Given the description of an element on the screen output the (x, y) to click on. 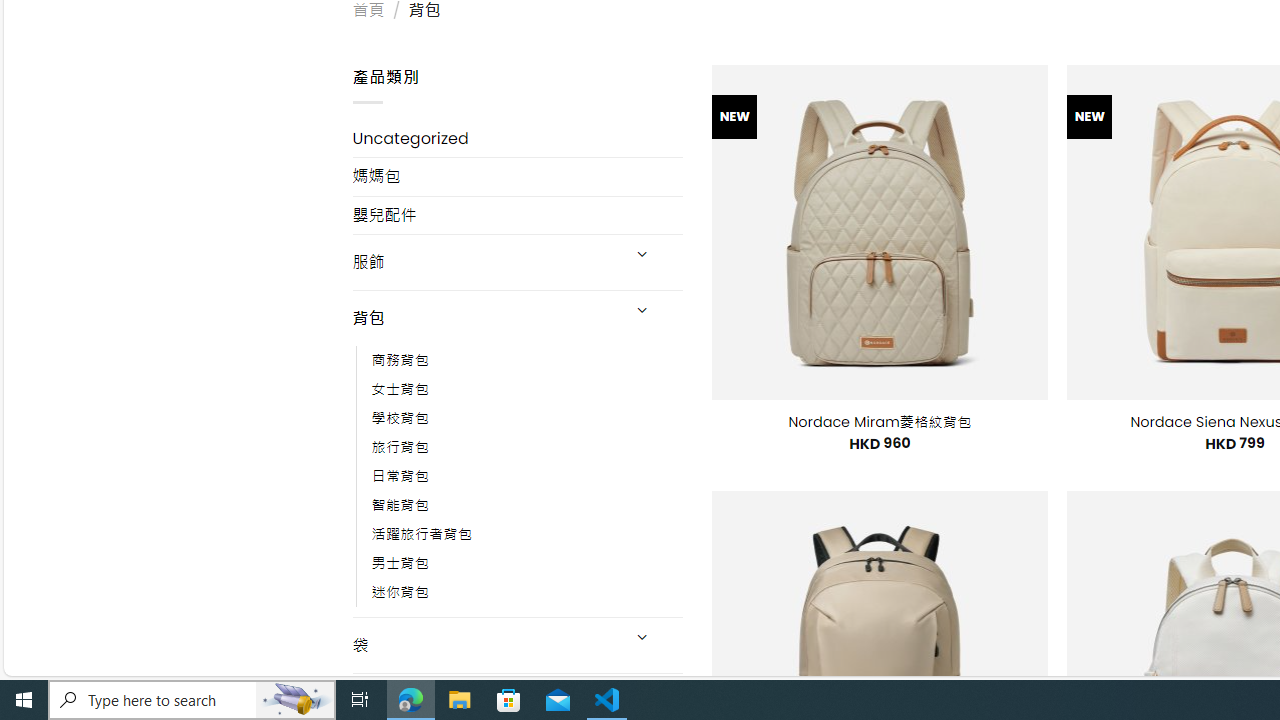
Uncategorized (517, 137)
